Given the description of an element on the screen output the (x, y) to click on. 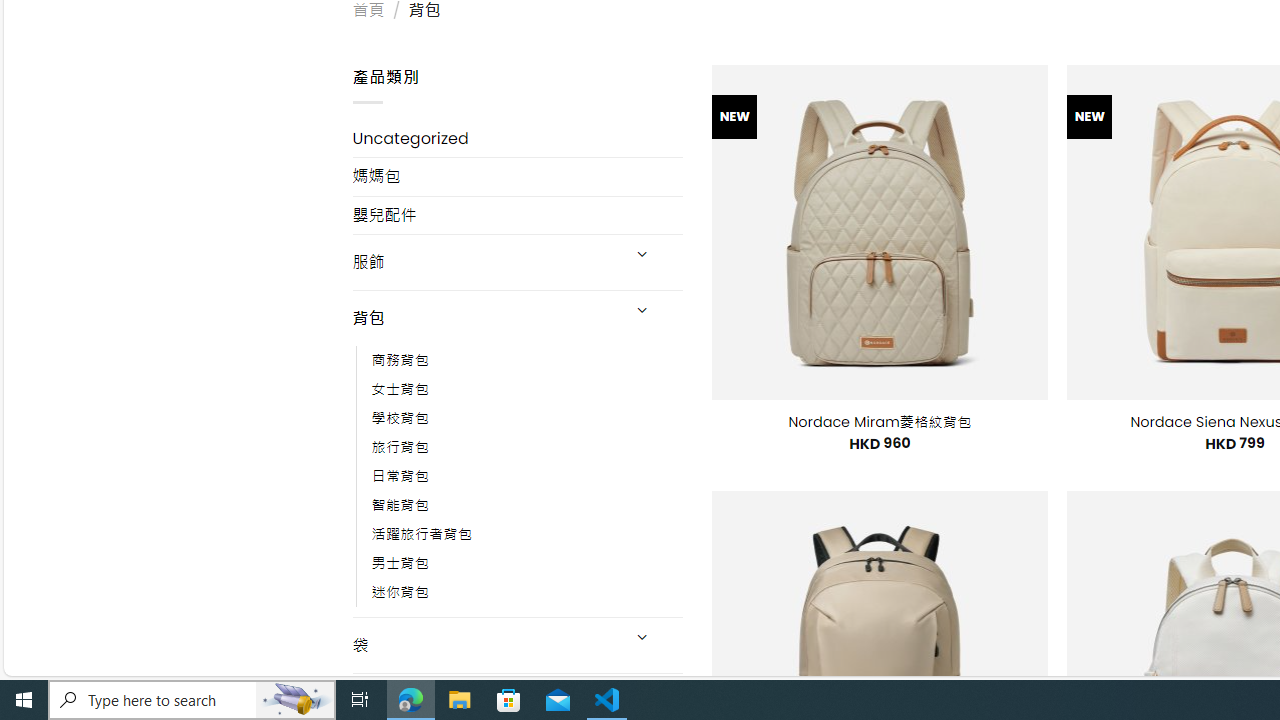
Uncategorized (517, 137)
